Given the description of an element on the screen output the (x, y) to click on. 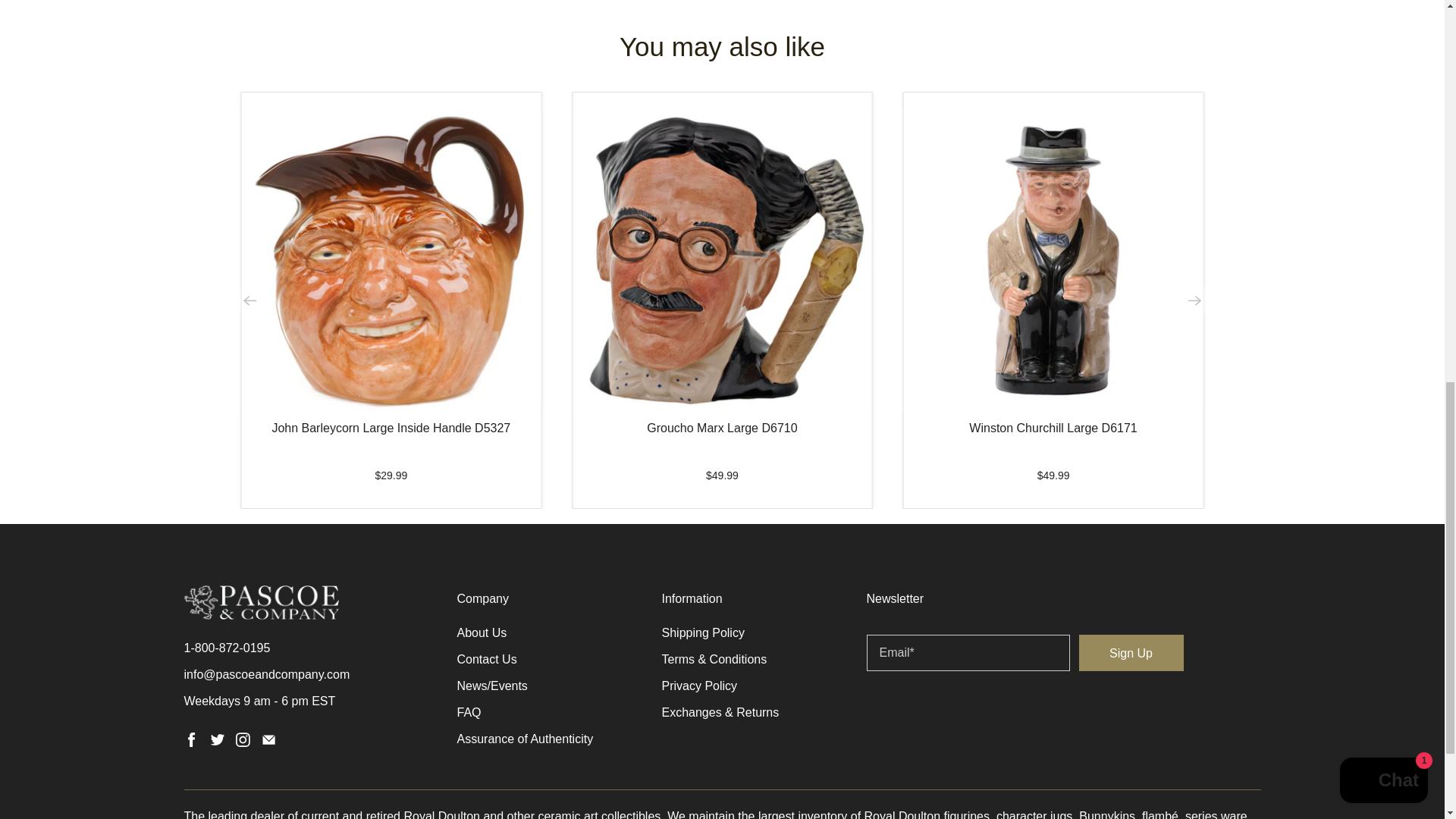
pascoeandcompany on Instagram (242, 742)
pascoeandcompany (260, 609)
pascoeandcompany on Facebook (190, 742)
tel:1-800-872-0195 (226, 647)
pascoeandcompany on Twitter (216, 742)
Email pascoeandcompany (269, 742)
